Given the description of an element on the screen output the (x, y) to click on. 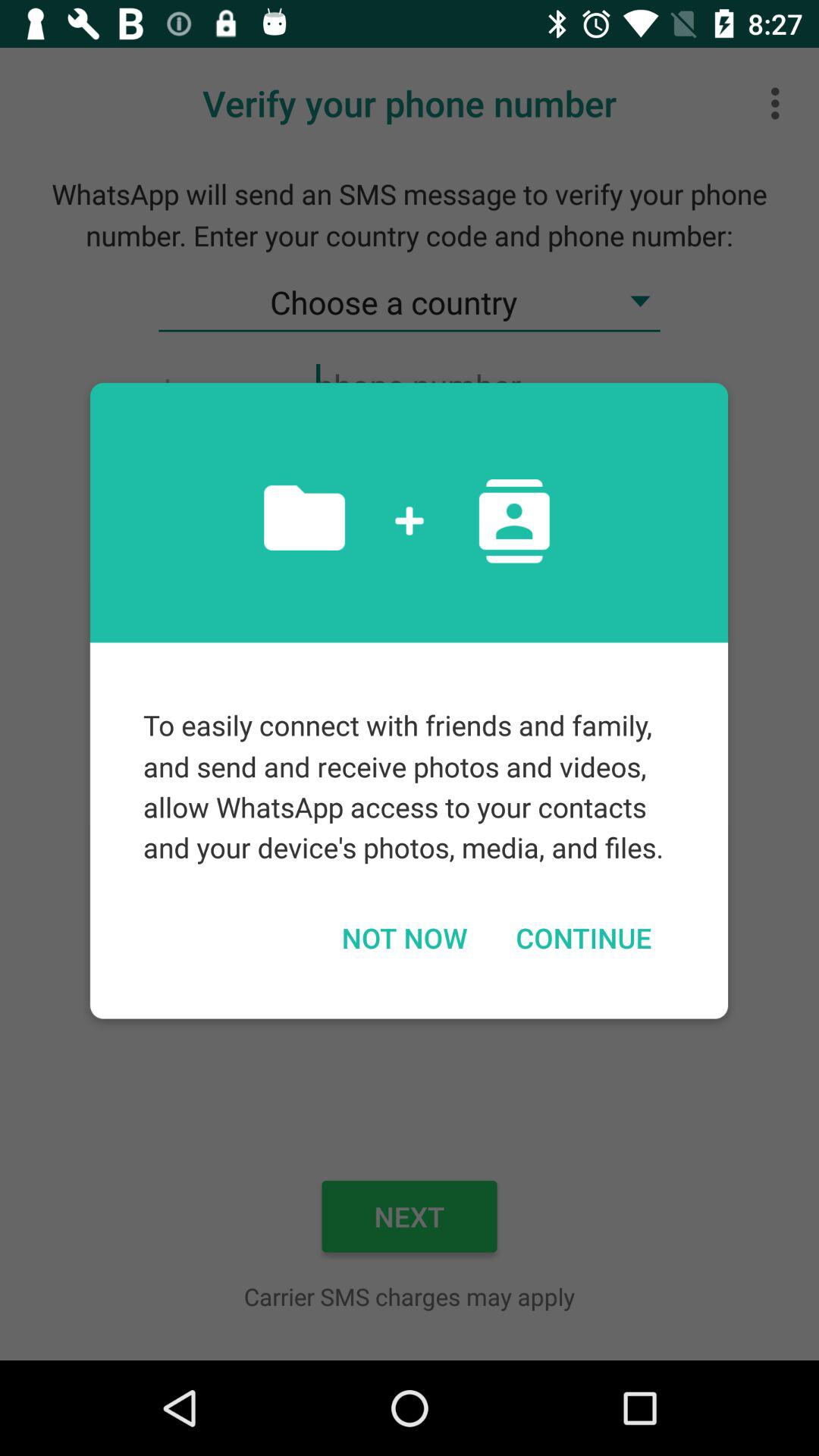
jump until the continue item (583, 937)
